Given the description of an element on the screen output the (x, y) to click on. 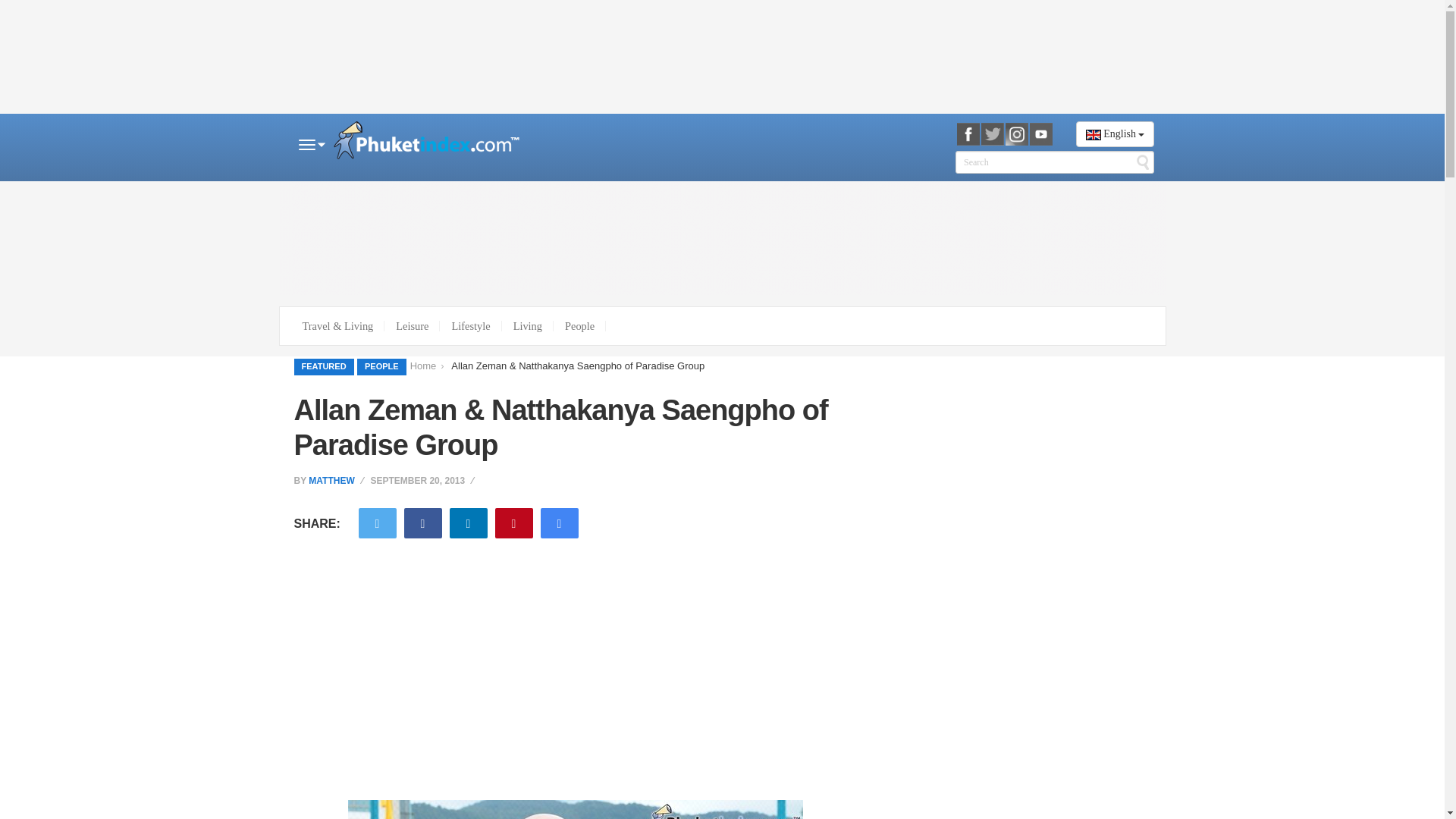
MATTHEW (330, 480)
Living (527, 325)
English (1114, 134)
PEOPLE (381, 366)
Leisure (411, 325)
3rd party ad content (722, 56)
People (579, 325)
Lifestyle (469, 325)
Phuketindex.com (425, 142)
Friday, September 20, 2013, 6:03 pm (423, 480)
